Given the description of an element on the screen output the (x, y) to click on. 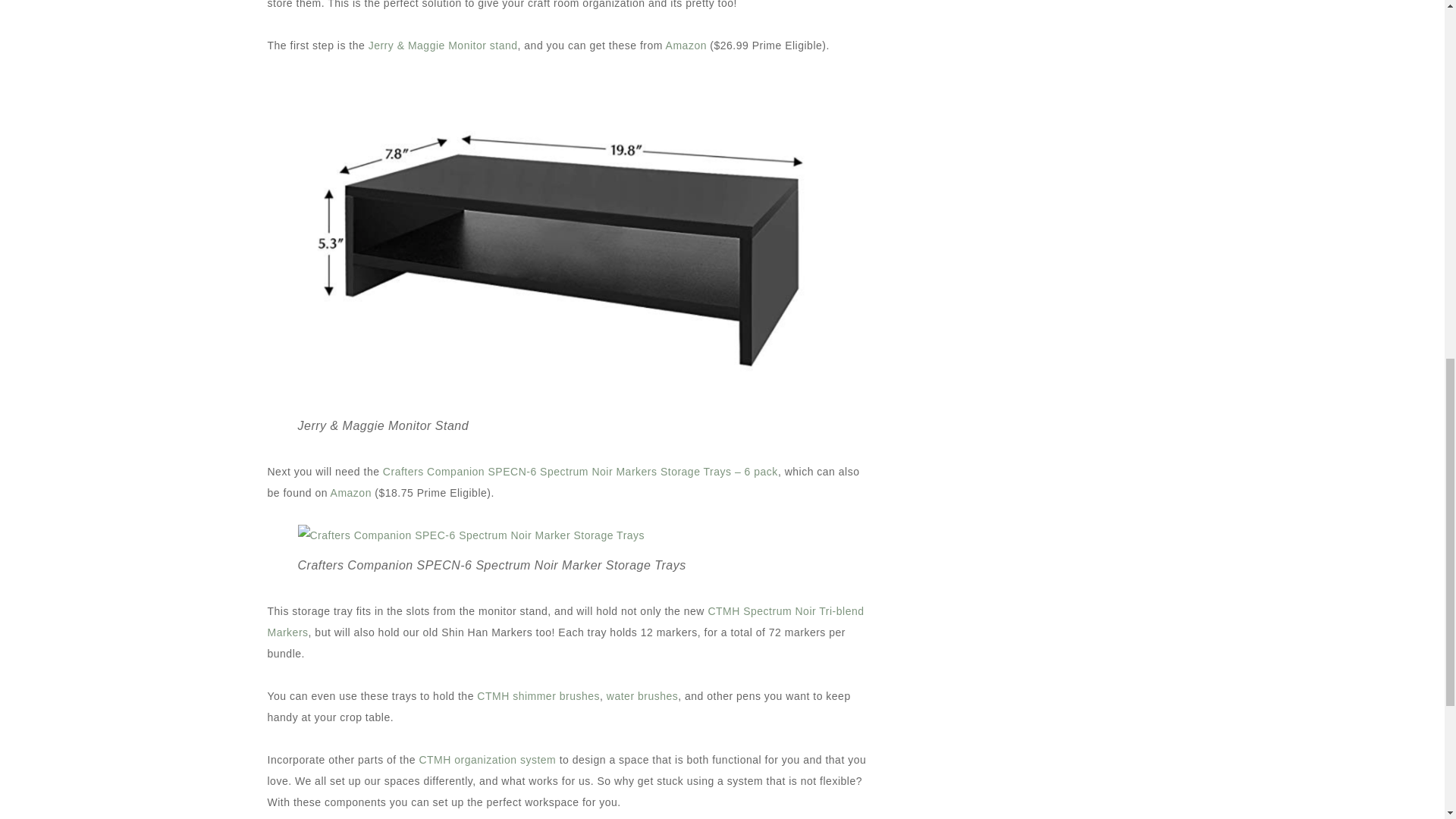
CTMH shimmer brushes (538, 695)
CTMH Spectrum Noir Tri-blend Markers (564, 621)
Amazon (685, 45)
Amazon (350, 492)
CTMH organization system (487, 759)
water brushes (642, 695)
